Given the description of an element on the screen output the (x, y) to click on. 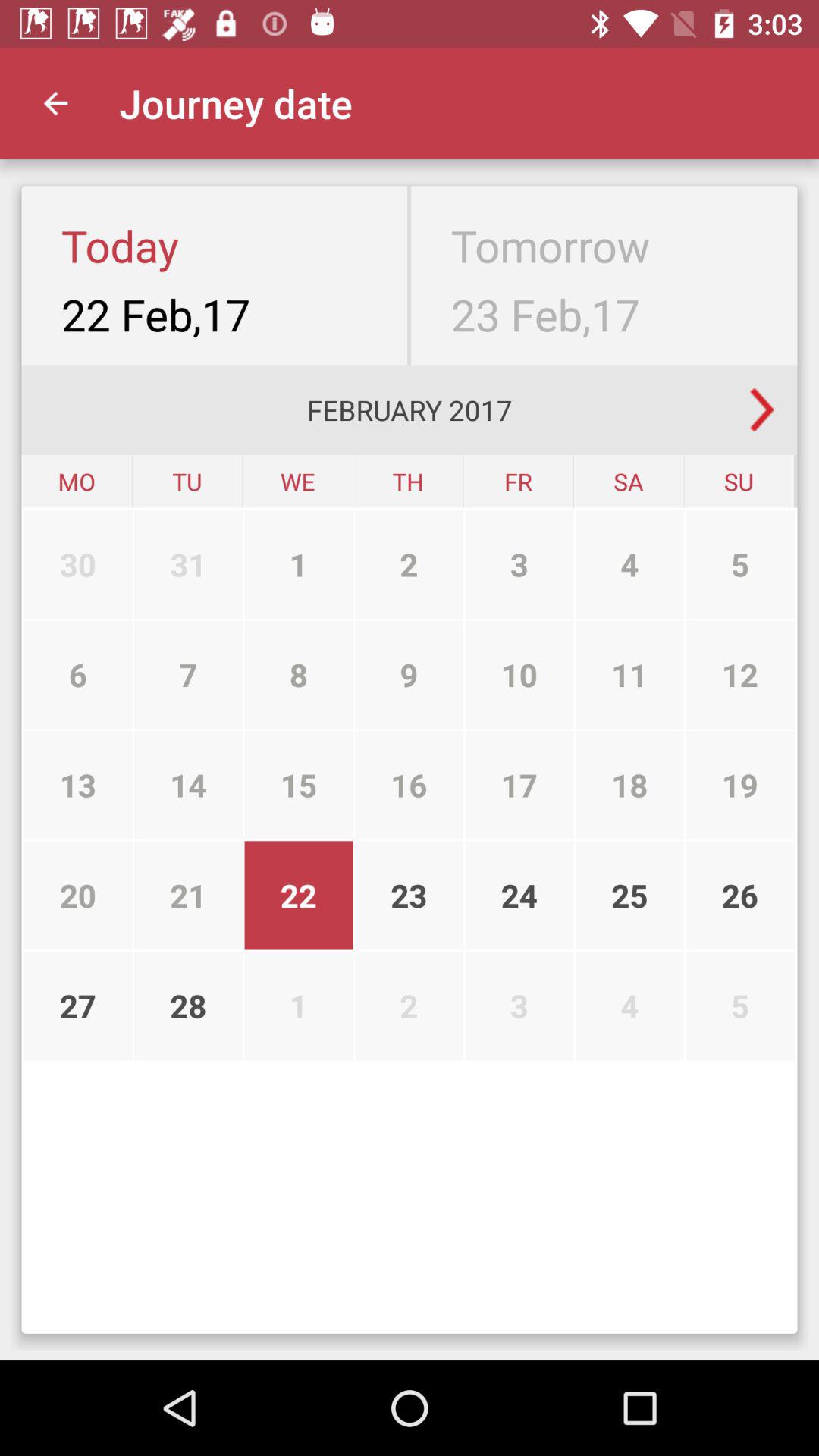
jump until the 19 item (739, 784)
